Given the description of an element on the screen output the (x, y) to click on. 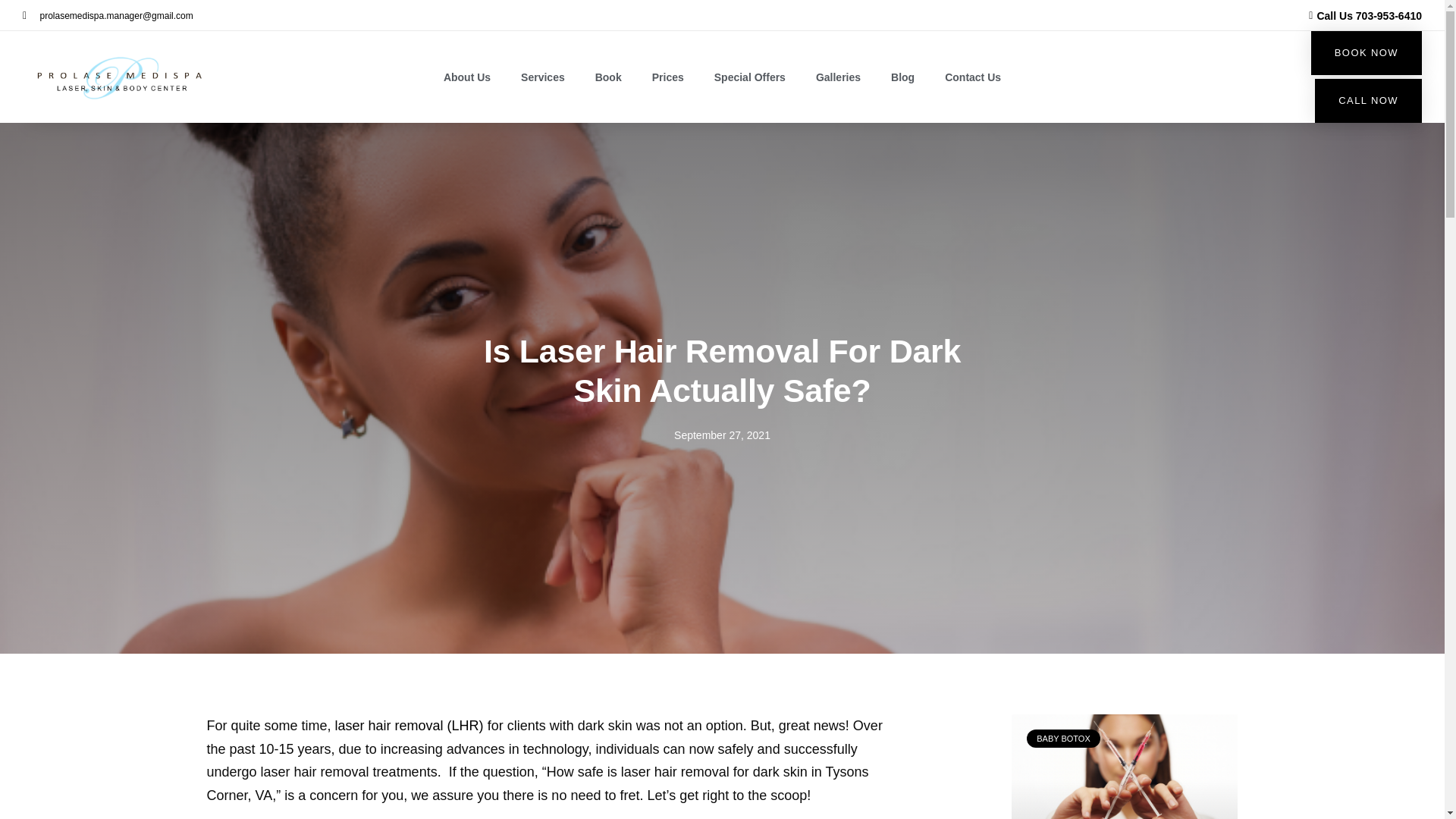
Services (542, 77)
About Us (466, 77)
Call Us 703-953-6410 (1072, 14)
